Given the description of an element on the screen output the (x, y) to click on. 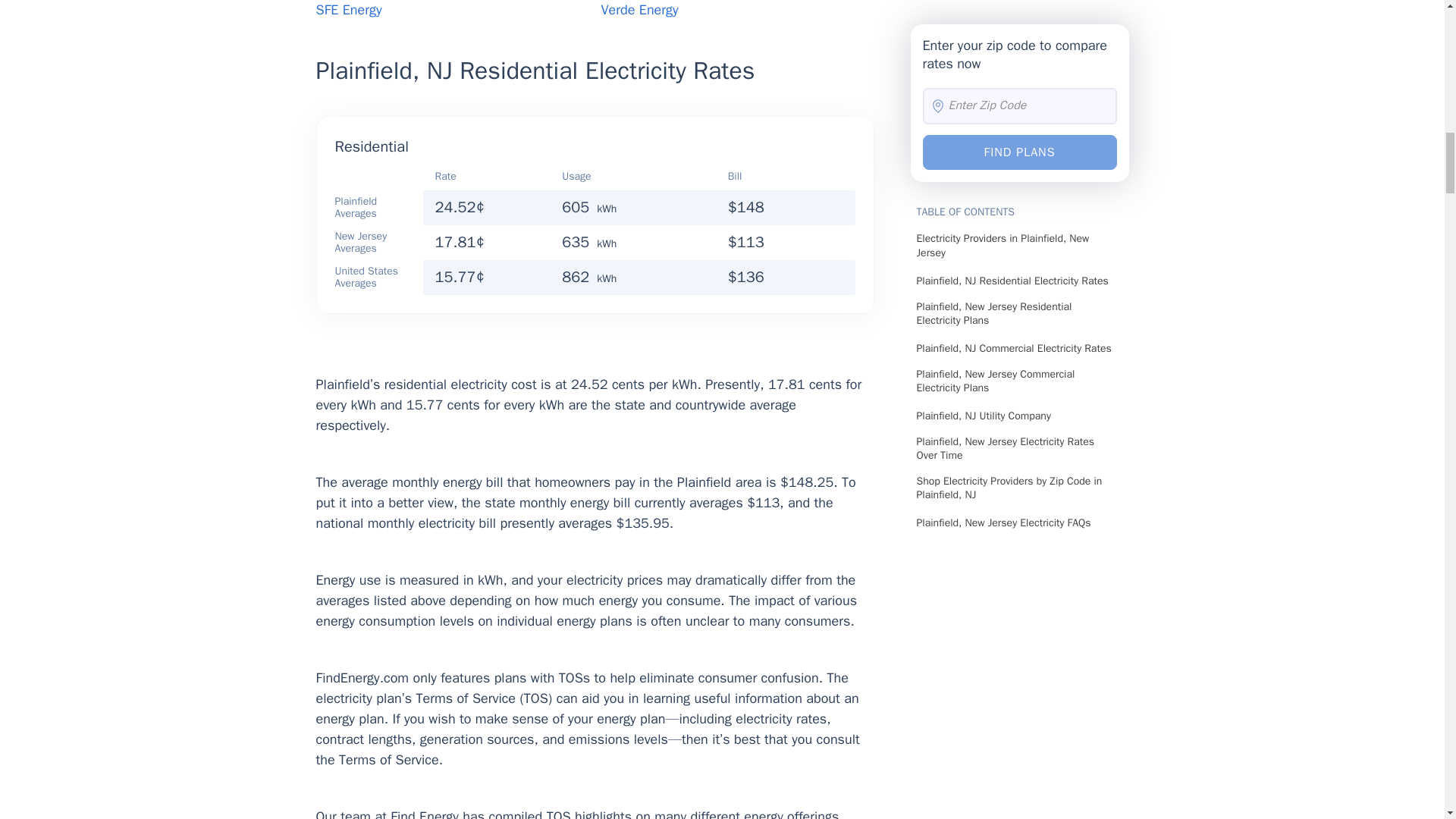
SFE Energy (348, 9)
Plainfield, NJ Residential Electricity Rates (594, 73)
Verde Energy (638, 9)
